Given the description of an element on the screen output the (x, y) to click on. 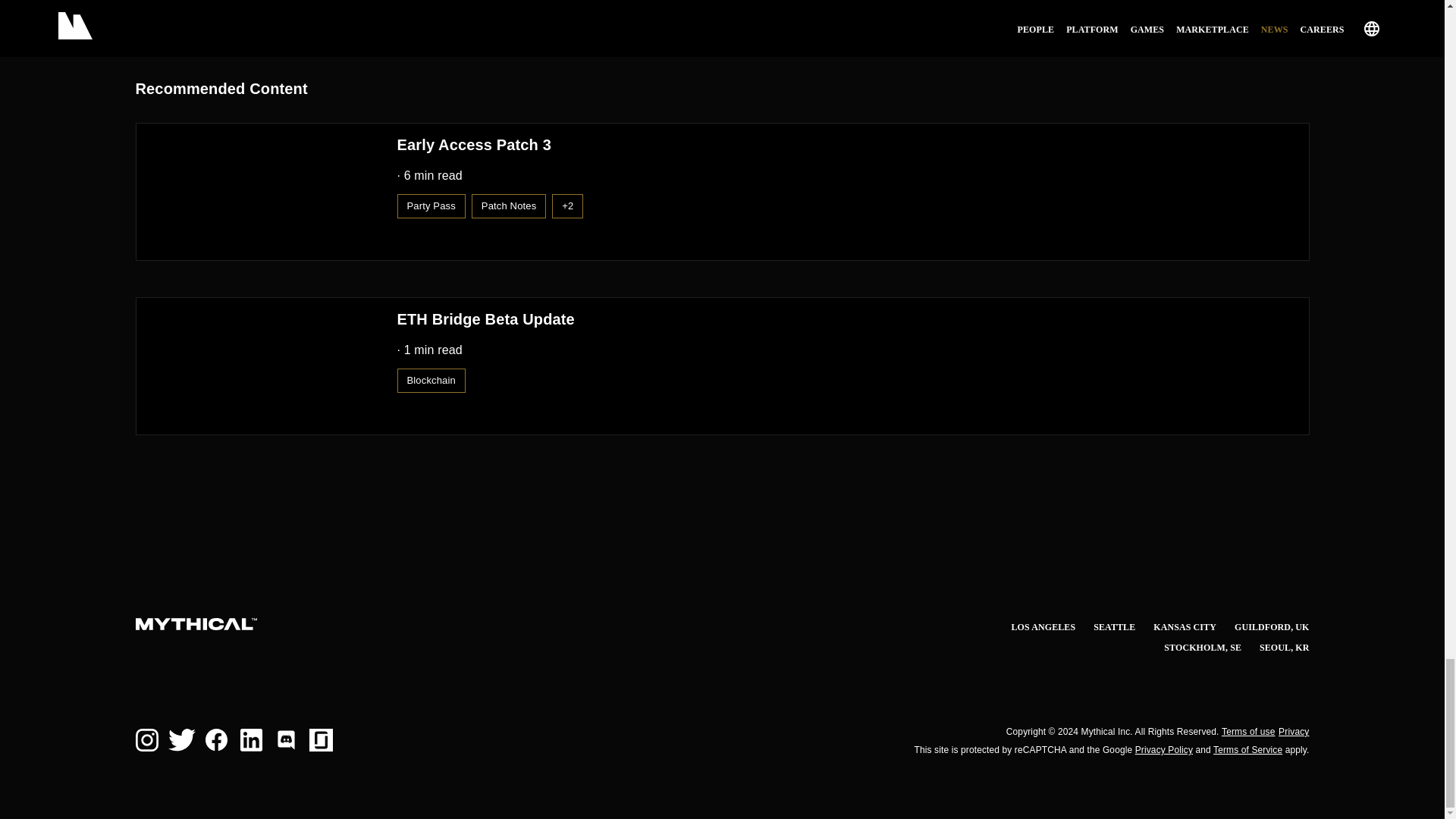
Privacy Policy (1163, 749)
Terms of use (1248, 731)
Privacy (1293, 731)
Early Access Patch 3 (527, 144)
Party Pass (431, 205)
Patch Notes (508, 205)
ETH Bridge Beta Update (486, 319)
Blockchain (431, 379)
Terms of Service (1247, 749)
